Given the description of an element on the screen output the (x, y) to click on. 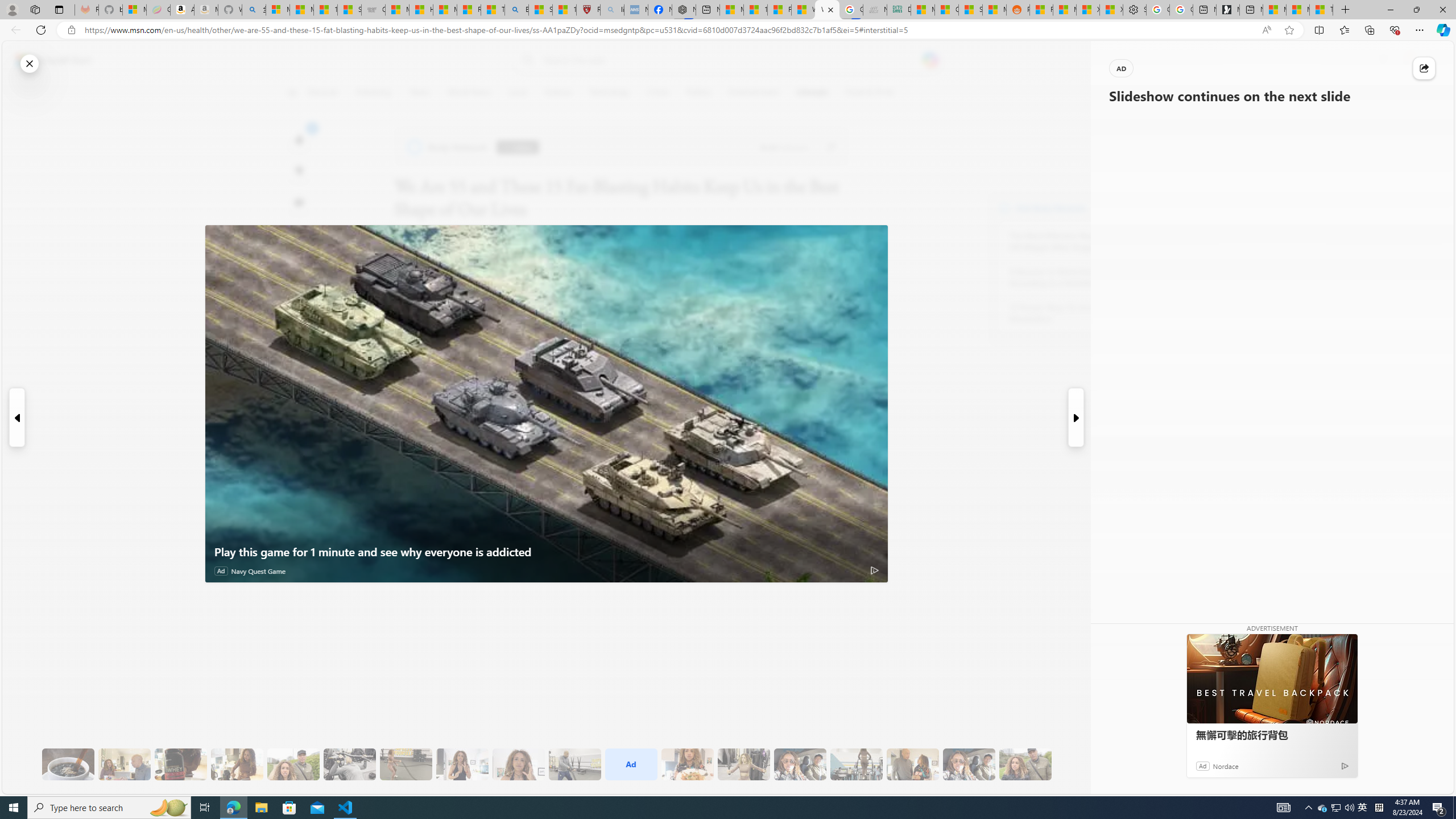
8 Reasons to Drink Kombucha, According to a Nutritionist (1071, 277)
7 They Don't Skip Meals (237, 764)
Share this story (1423, 67)
These 3 Stocks Pay You More Than 5% to Own Them (1321, 9)
15 They Also Indulge in a Low-Calorie Sweet Treat (743, 764)
